Given the description of an element on the screen output the (x, y) to click on. 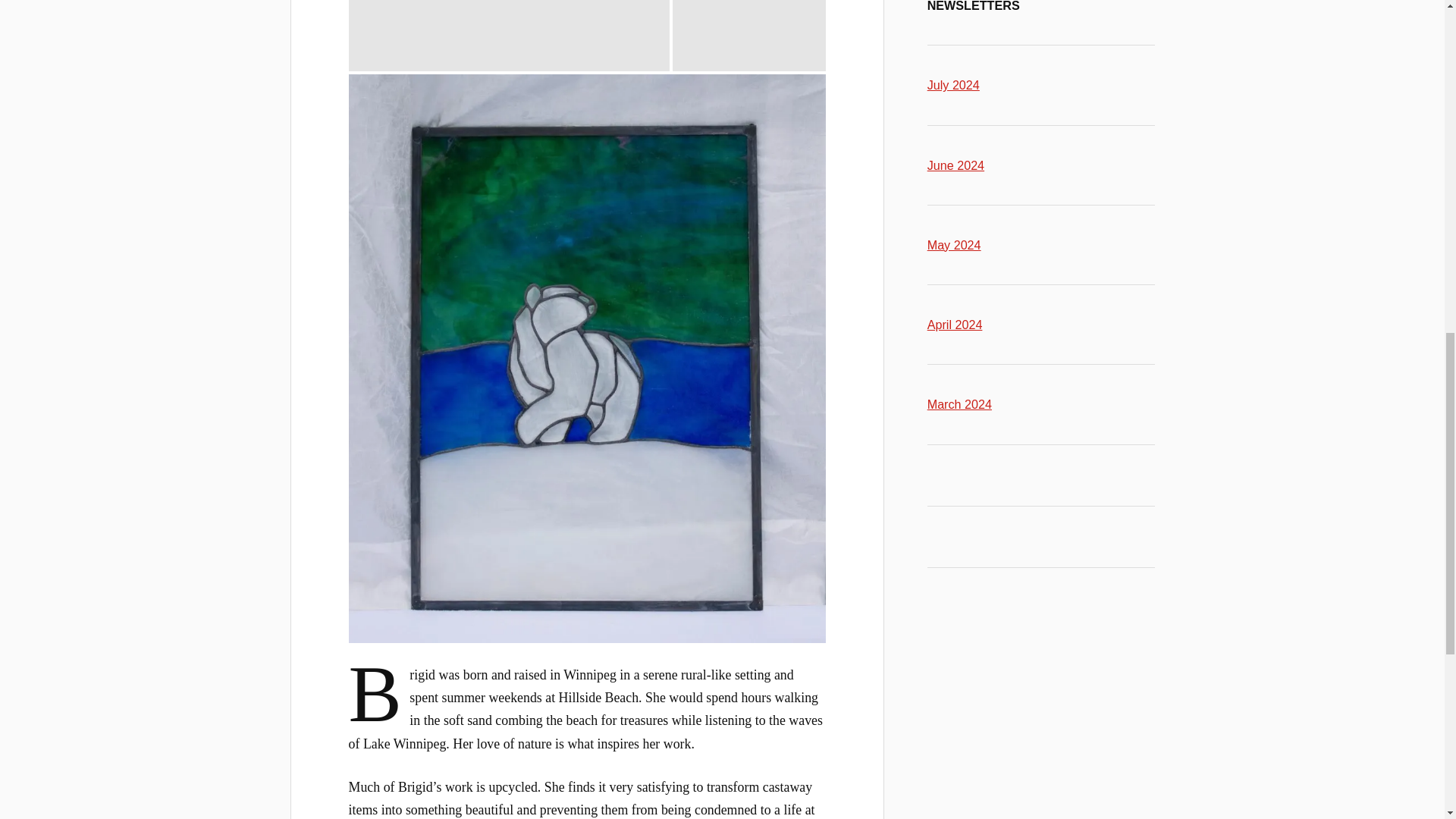
May 2024 (954, 244)
July 2024 (953, 84)
June 2024 (955, 164)
March 2024 (959, 404)
April 2024 (954, 324)
